Given the description of an element on the screen output the (x, y) to click on. 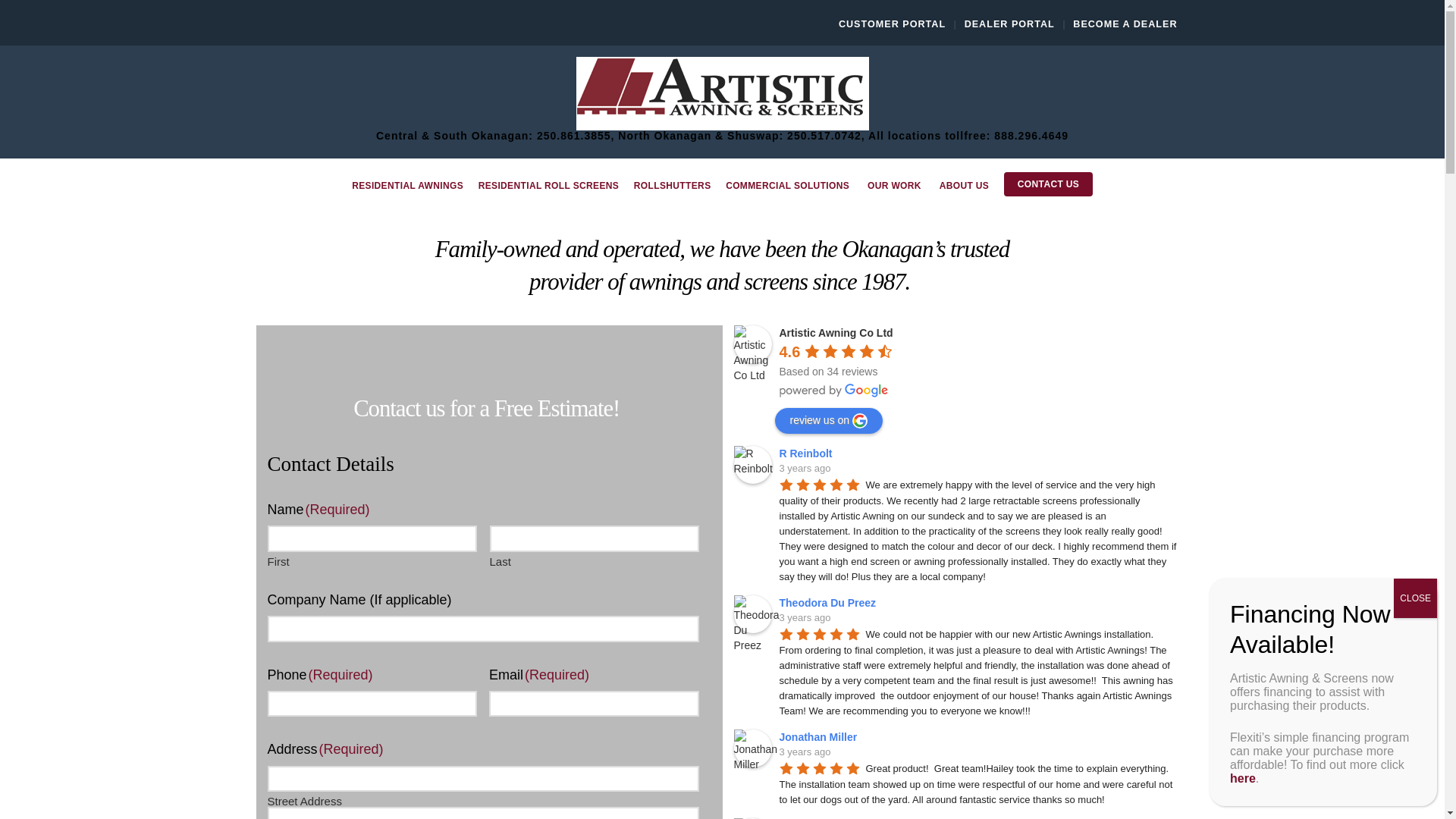
review us on (828, 420)
R Reinbolt (752, 464)
Theodora Du Preez (752, 614)
OUR WORK (895, 194)
Jonathan Miller (819, 736)
R Reinbolt (807, 453)
ABOUT US (963, 194)
powered by Google (833, 390)
RESIDENTIAL AWNINGS (406, 194)
CUSTOMER PORTAL (891, 23)
RESIDENTIAL ROLL SCREENS (548, 194)
Artistic Awning Co Ltd (835, 332)
BECOME A DEALER (1124, 23)
CONTACT US (1047, 185)
DEALER PORTAL (1008, 23)
